Given the description of an element on the screen output the (x, y) to click on. 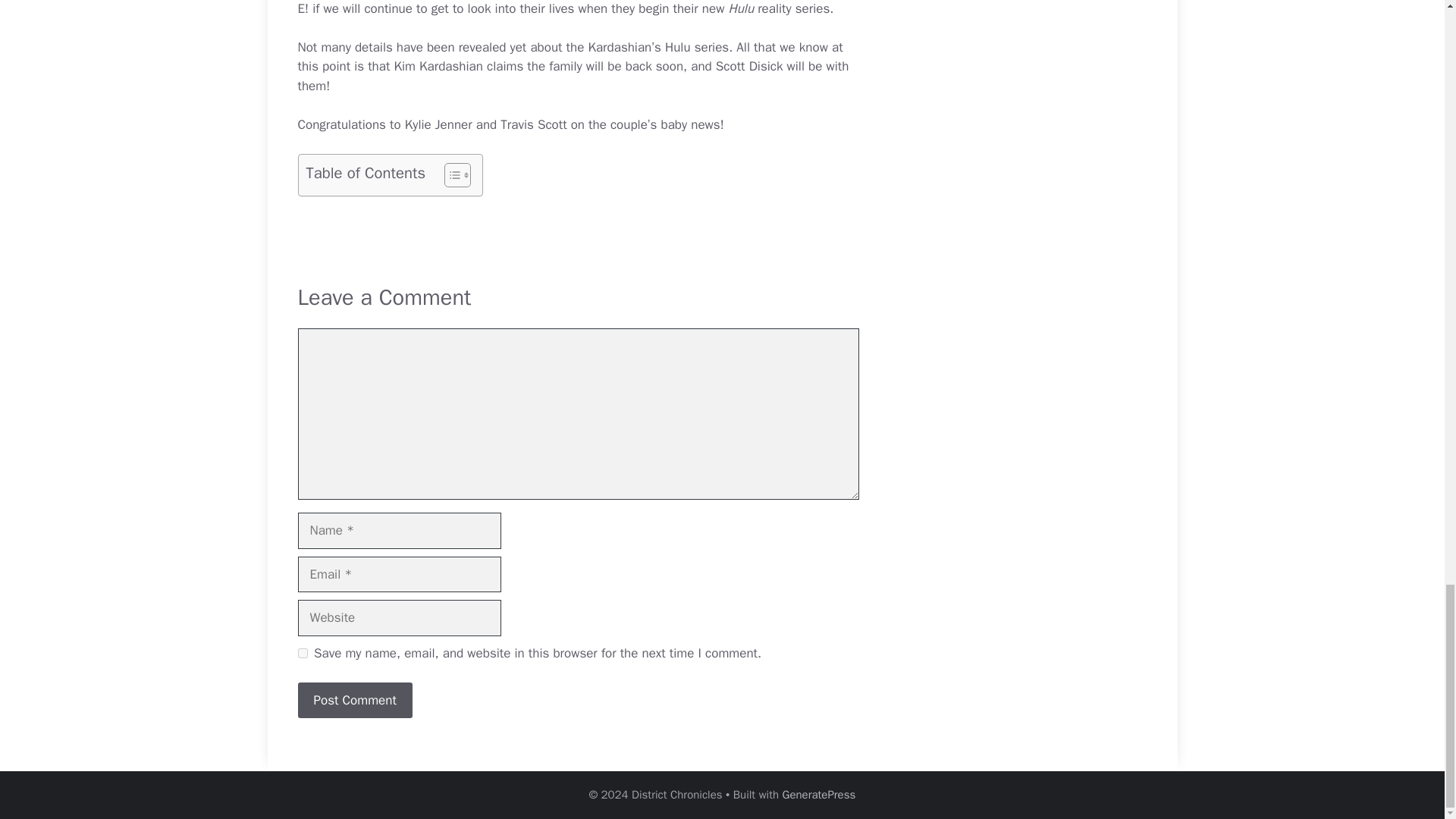
yes (302, 653)
GeneratePress (819, 794)
Post Comment (354, 700)
Post Comment (354, 700)
